Given the description of an element on the screen output the (x, y) to click on. 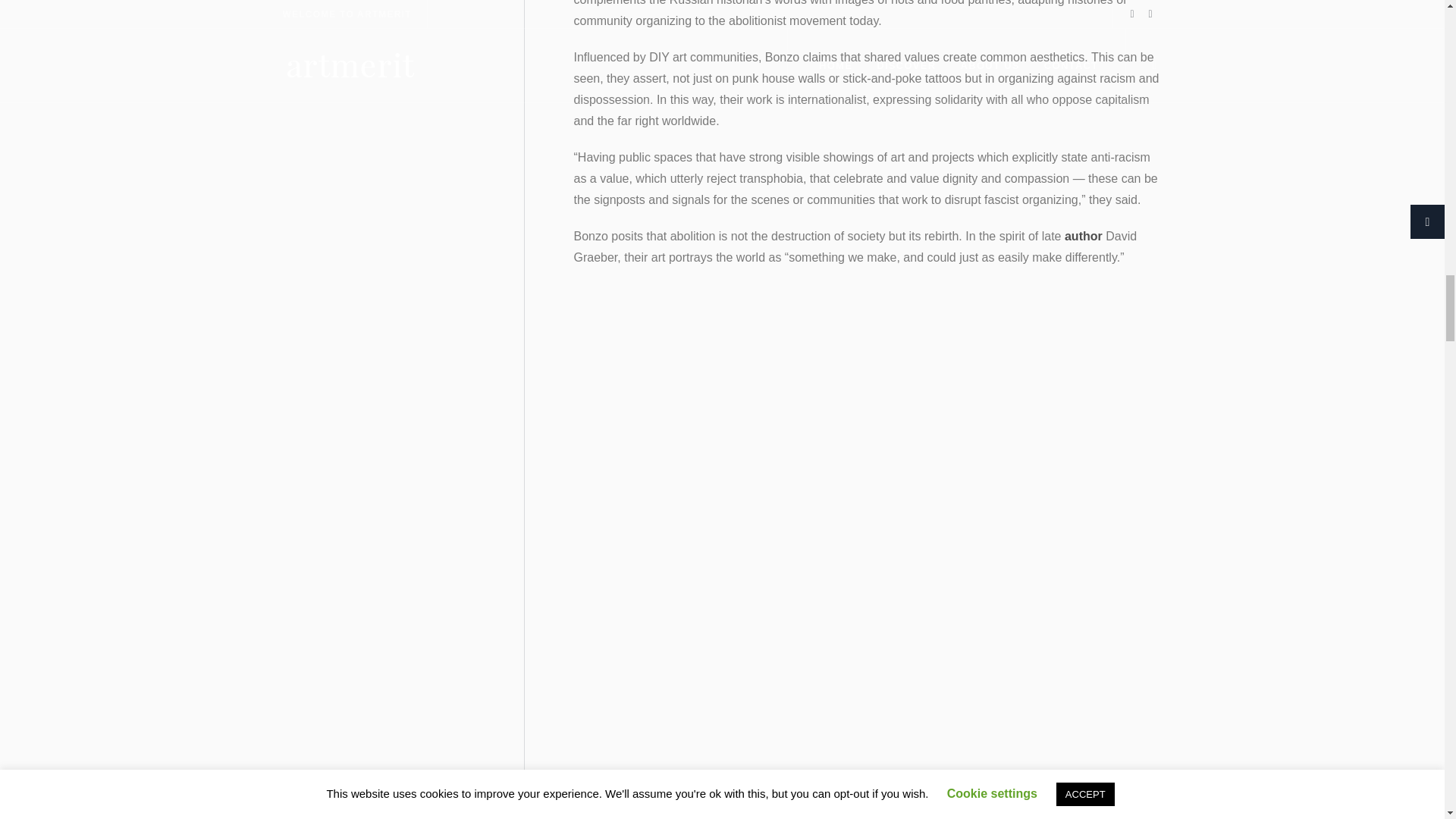
author (1083, 236)
